Given the description of an element on the screen output the (x, y) to click on. 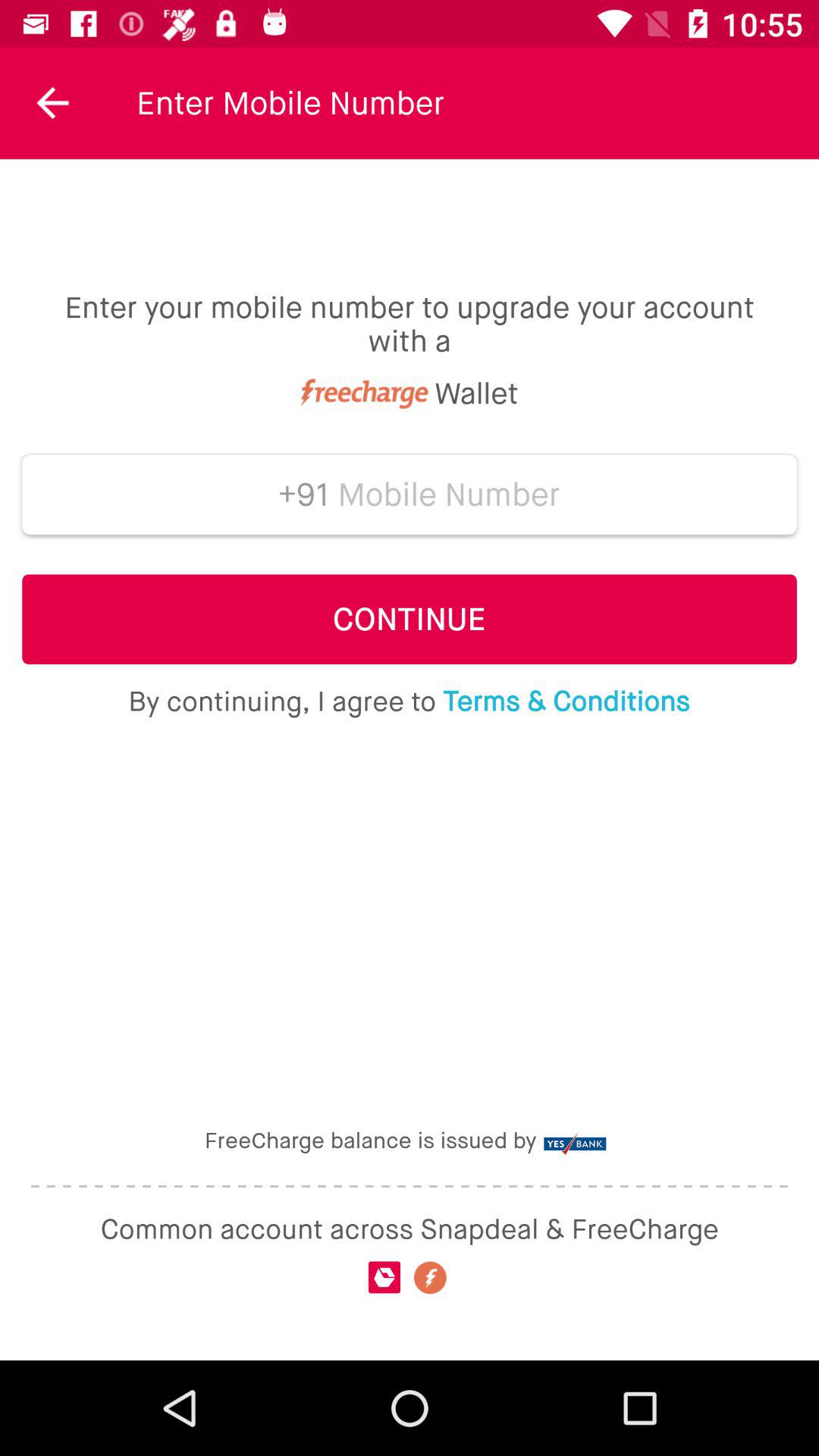
enter your phone number (448, 494)
